Given the description of an element on the screen output the (x, y) to click on. 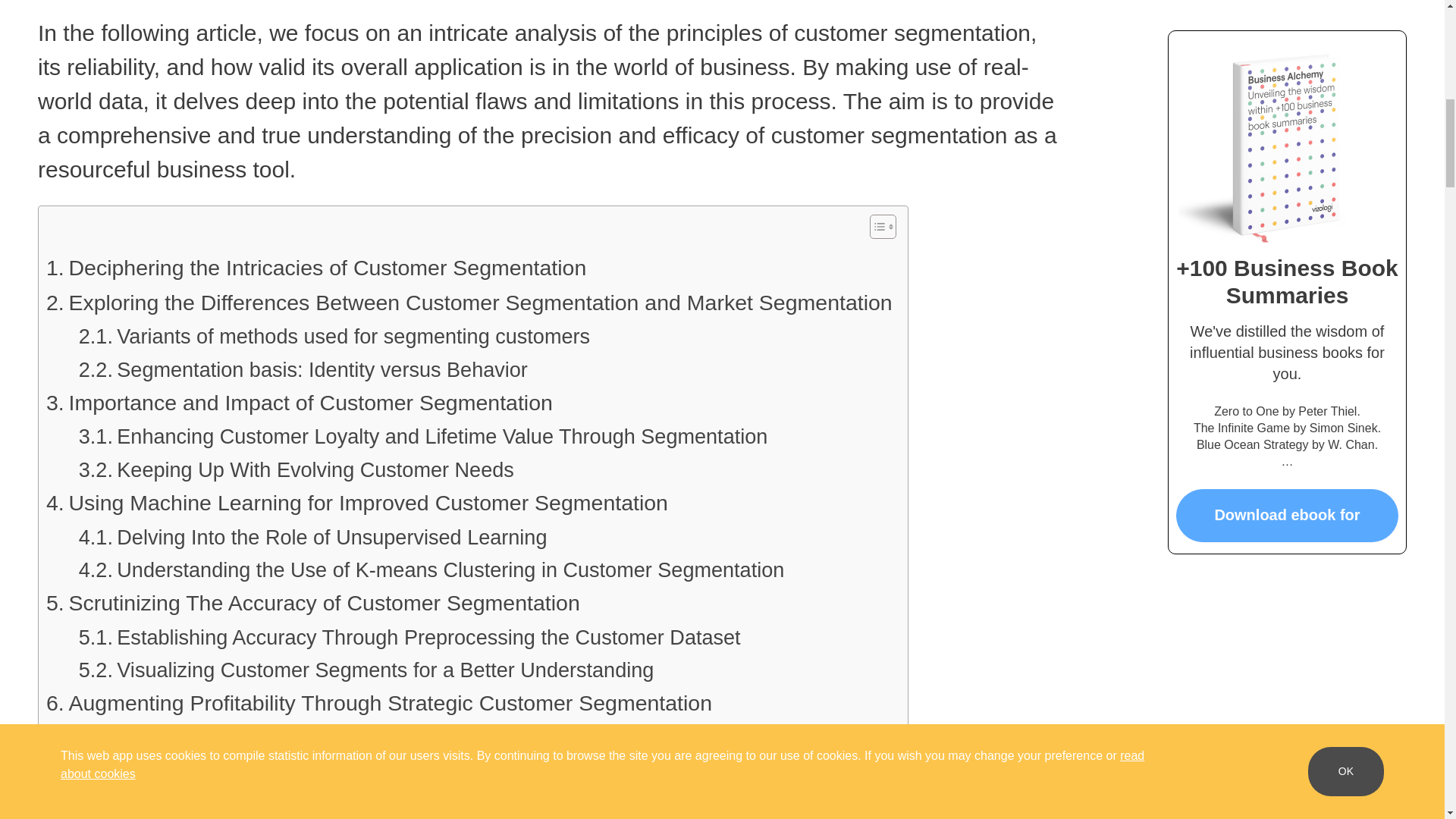
Segmentation basis: Identity versus Behavior (302, 368)
Using Machine Learning for Improved Customer Segmentation (357, 503)
Variants of methods used for segmenting customers (333, 336)
Scrutinizing The Accuracy of Customer Segmentation (312, 603)
Deciphering the Intricacies of Customer Segmentation (316, 267)
Constructing a Strategy For Nurturing First-Time Customers (369, 737)
Visualizing Customer Segments for a Better Understanding (365, 669)
Constructing a Strategy For Nurturing First-Time Customers (369, 737)
Delving Into the Role of Unsupervised Learning (312, 536)
Importance and Impact of Customer Segmentation (299, 402)
